Given the description of an element on the screen output the (x, y) to click on. 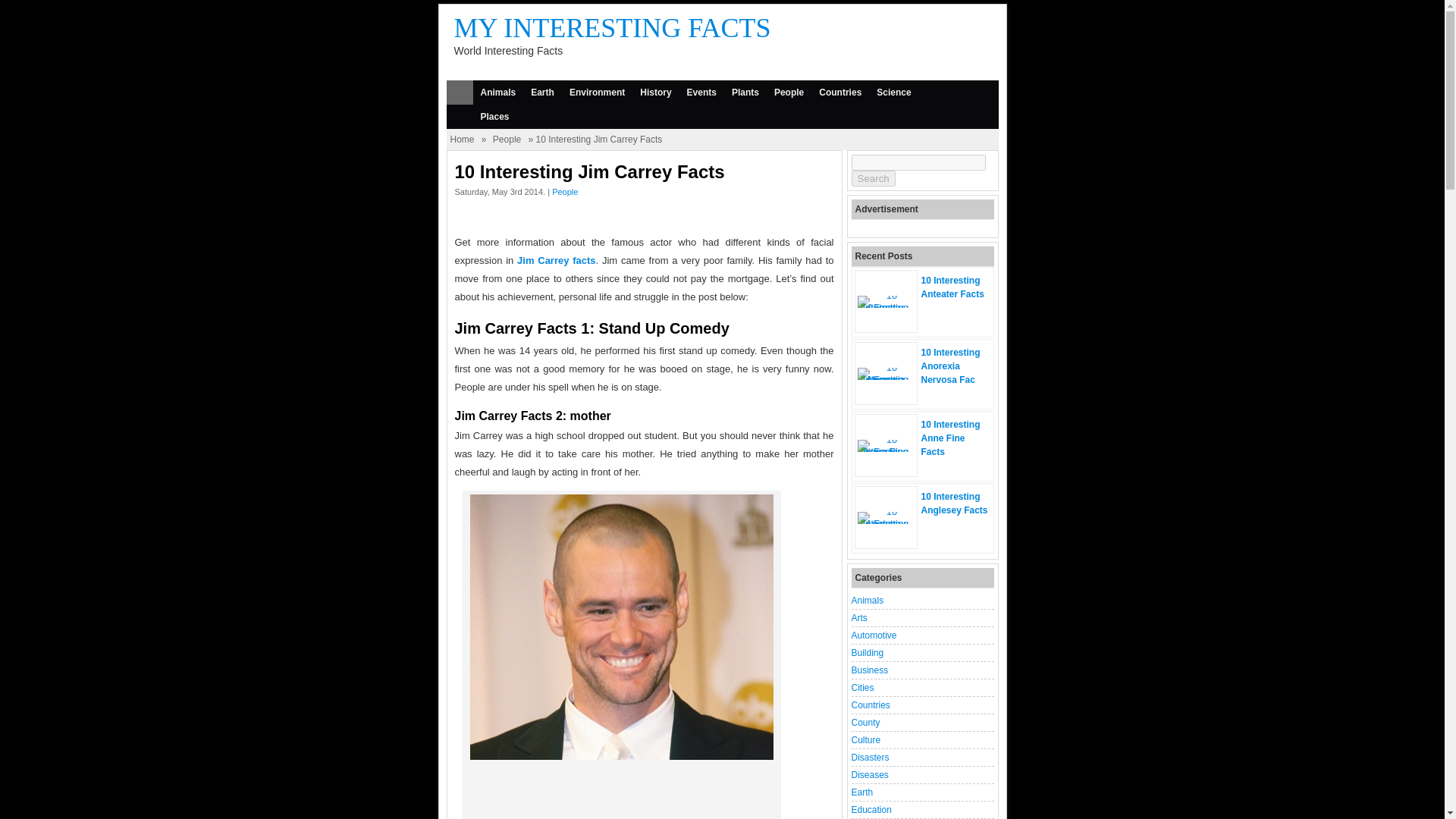
10 Interesting Anteater Facts (952, 287)
MY INTERESTING FACTS (611, 28)
History (654, 92)
People (506, 139)
Search (872, 178)
10 Interesting Anne Fine Facts (949, 438)
10 Interesting Anteater Facts (885, 307)
My Interesting Facts (611, 28)
Jim Carrey facts (555, 260)
People (564, 191)
